Given the description of an element on the screen output the (x, y) to click on. 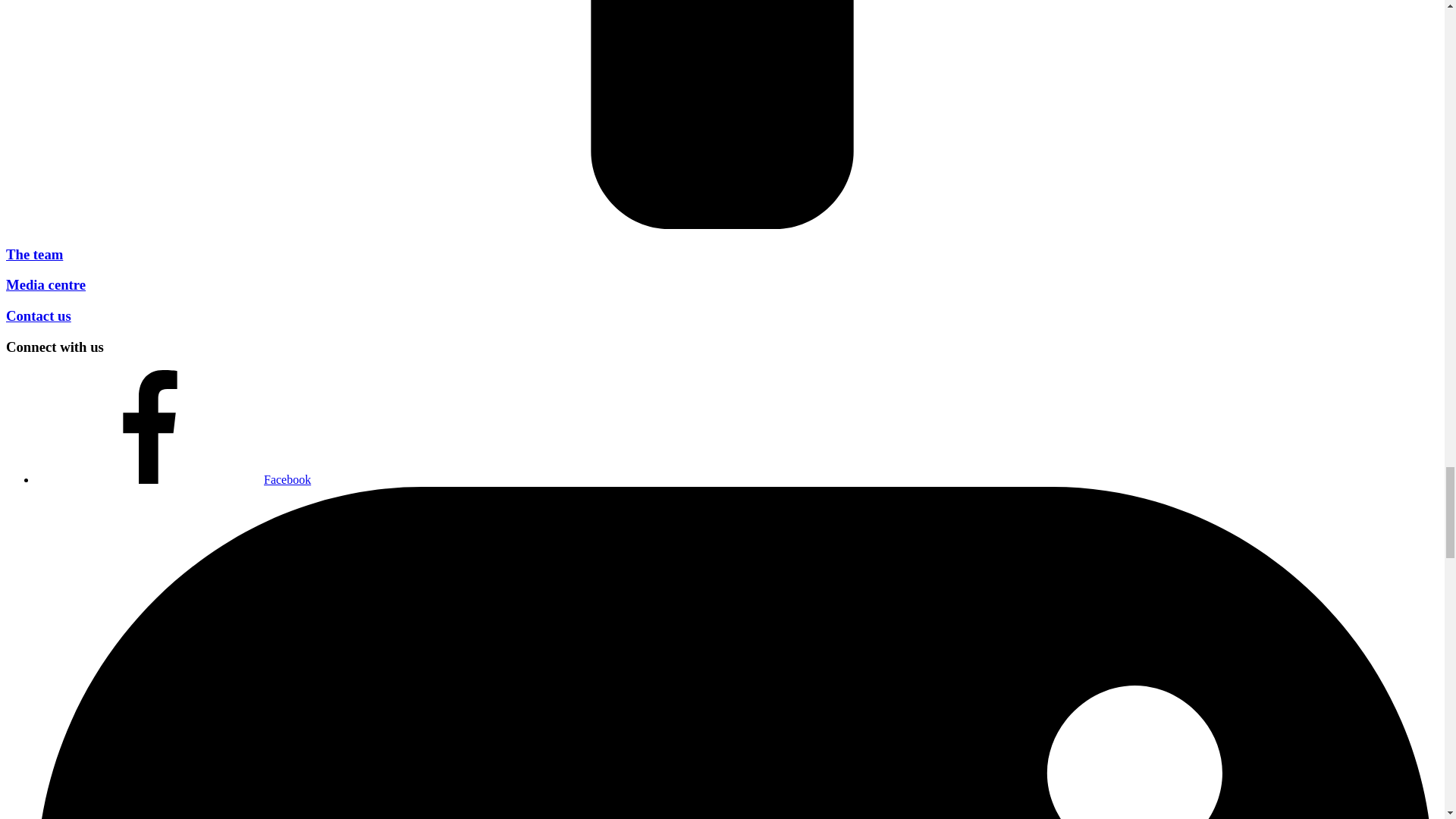
Facebook (173, 479)
Contact us (38, 315)
Media centre (45, 284)
The team (33, 254)
